Given the description of an element on the screen output the (x, y) to click on. 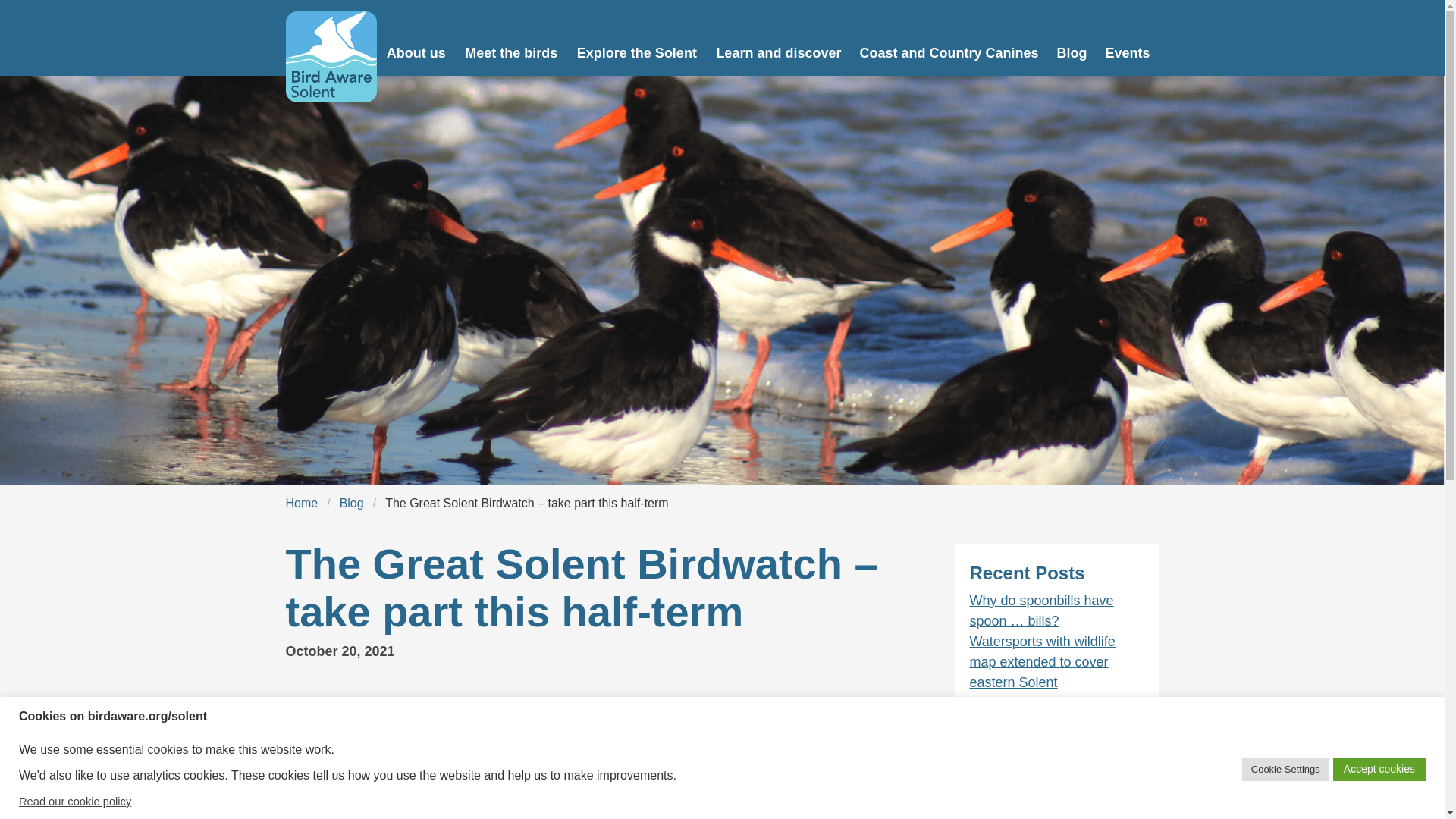
Coast and Country Canines (948, 38)
About us (417, 38)
Home (301, 503)
The early years of 5 coastal birds (1053, 754)
Great Solent Birdwatch (644, 702)
A step-by-step guide to bird pebble painting (1052, 713)
Explore the Solent (637, 38)
Learn and discover (778, 38)
Meet the birds (511, 38)
Blog (351, 503)
